Given the description of an element on the screen output the (x, y) to click on. 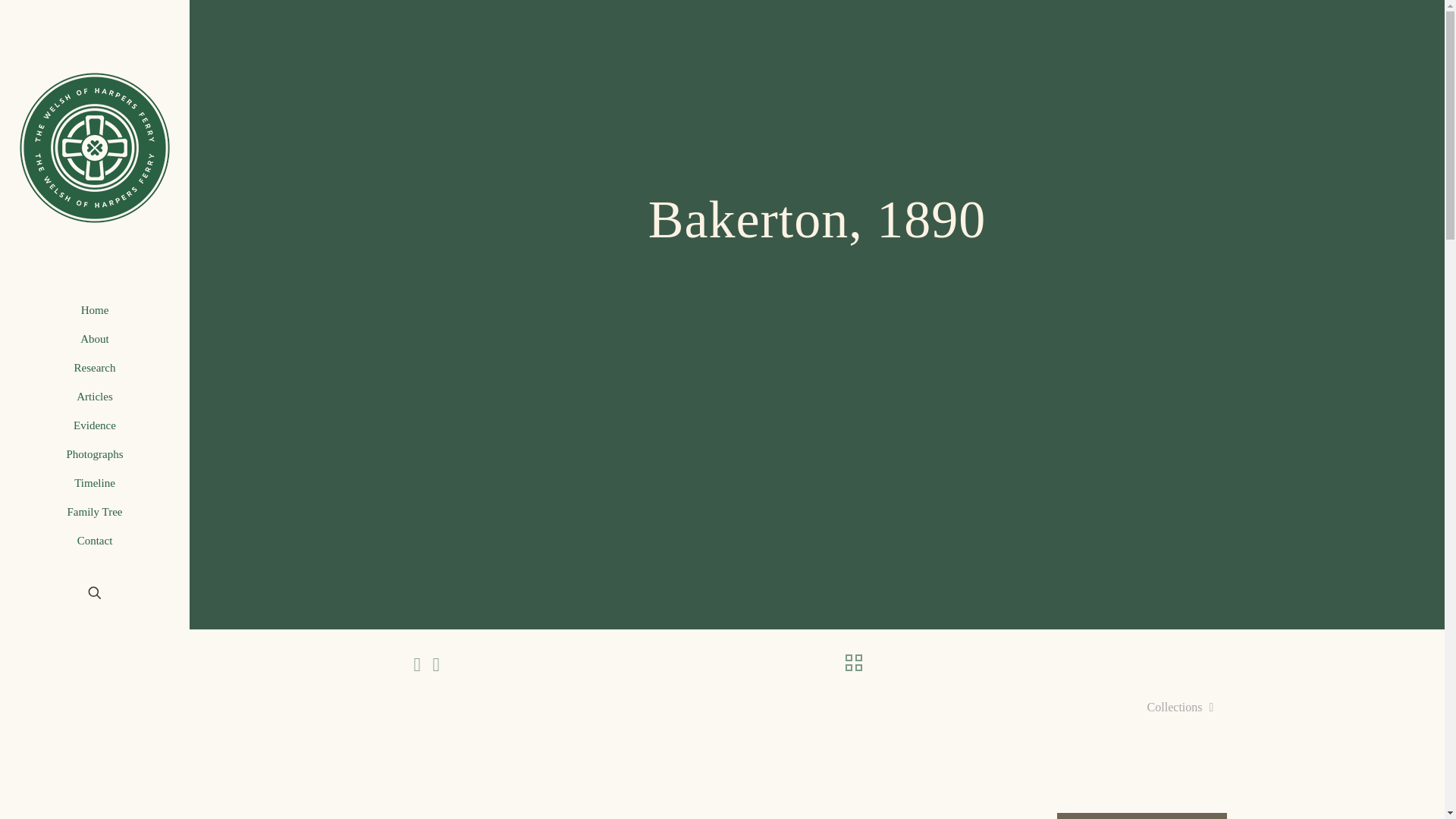
Photographs (94, 453)
Timeline (94, 482)
Family Tree (94, 511)
About (94, 338)
Articles (94, 396)
Evidence (94, 425)
Contact (94, 540)
Research (94, 367)
Home (94, 309)
